Given the description of an element on the screen output the (x, y) to click on. 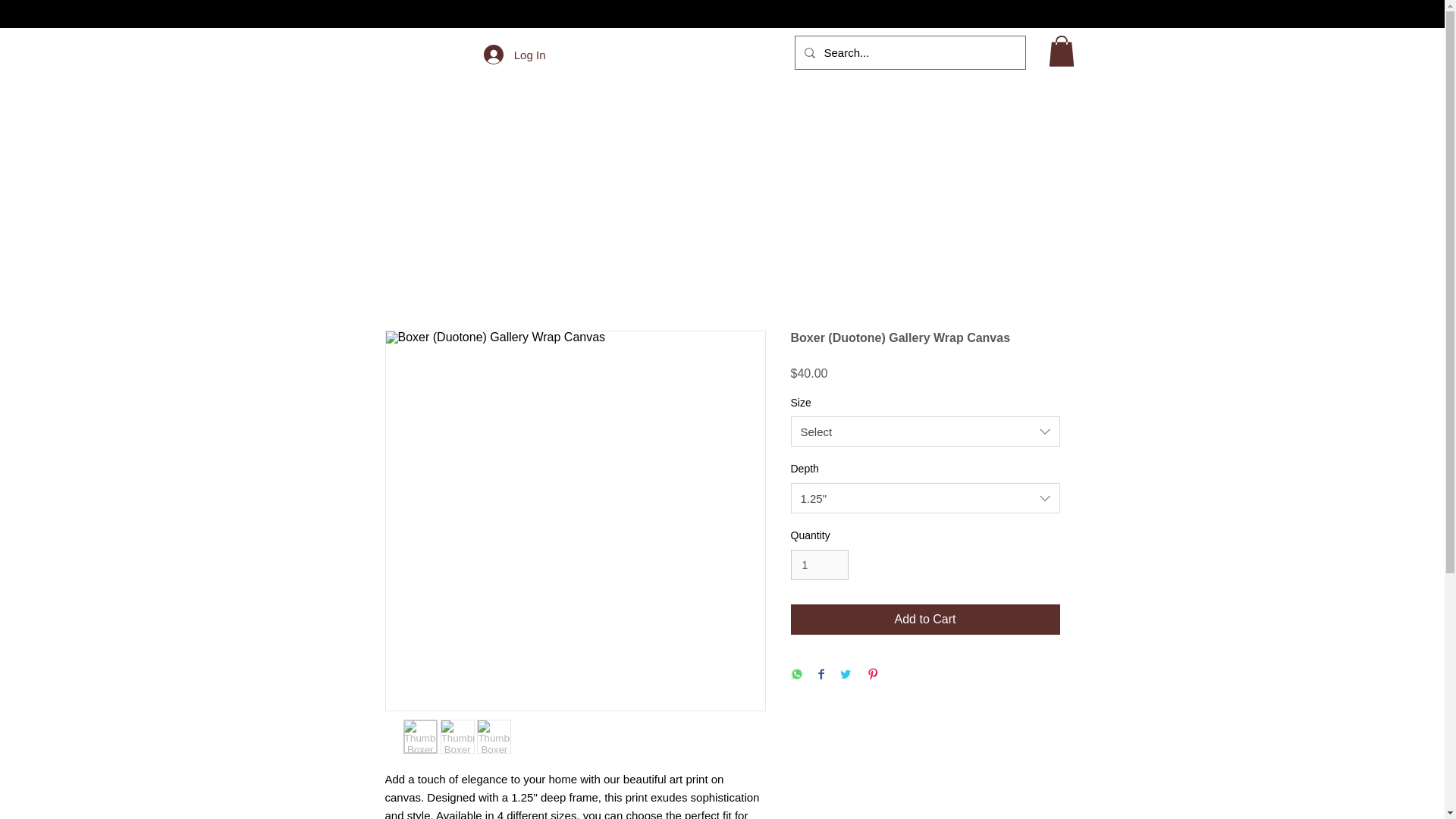
1.25" (924, 498)
Log In (514, 54)
1 (818, 564)
Add to Cart (924, 619)
Select (924, 431)
